Given the description of an element on the screen output the (x, y) to click on. 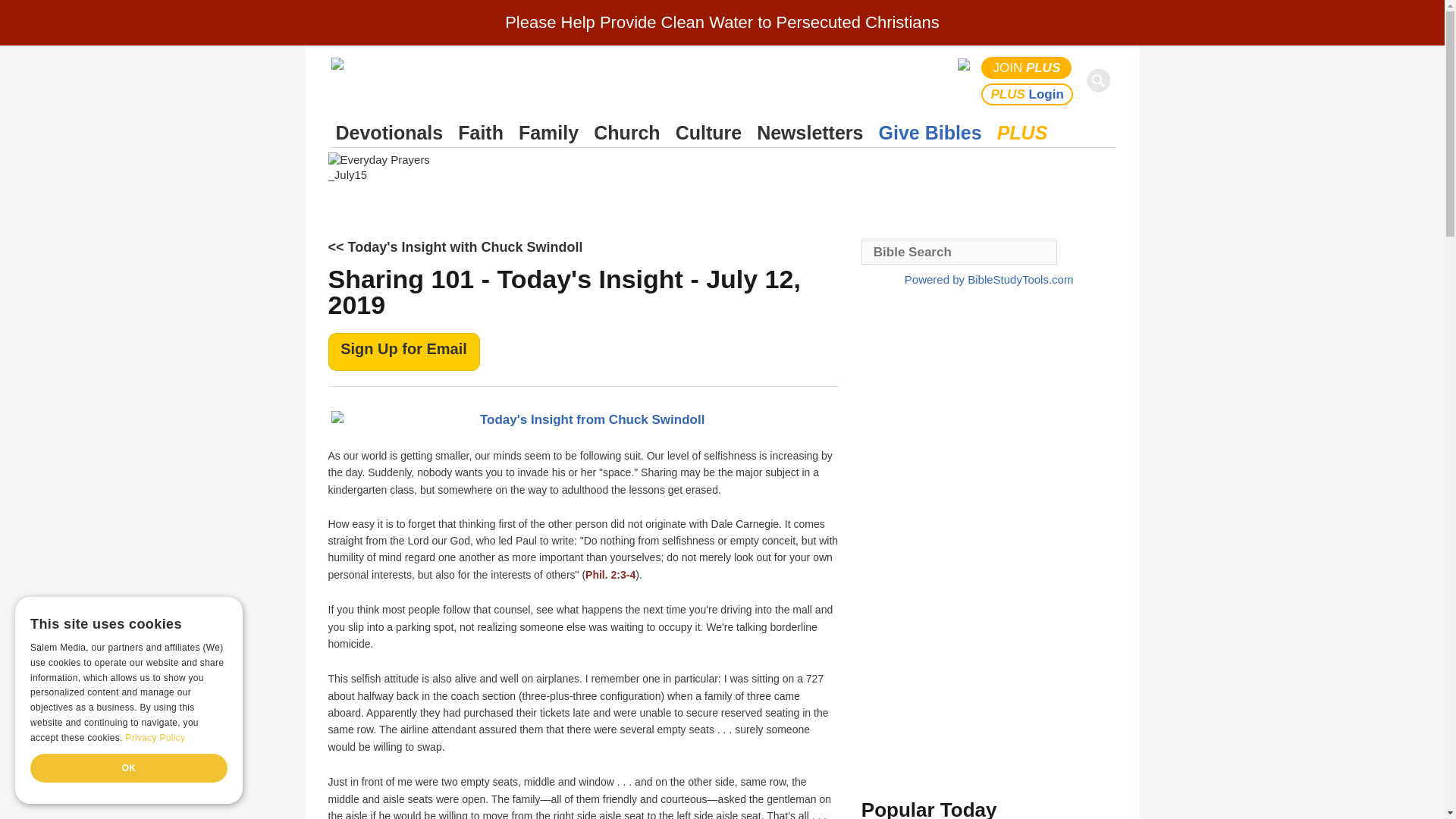
JOIN PLUS (1026, 67)
Join Plus (1026, 67)
Search (1101, 80)
PLUS Login (1026, 94)
Devotionals (389, 132)
Plus Login (1026, 94)
